Given the description of an element on the screen output the (x, y) to click on. 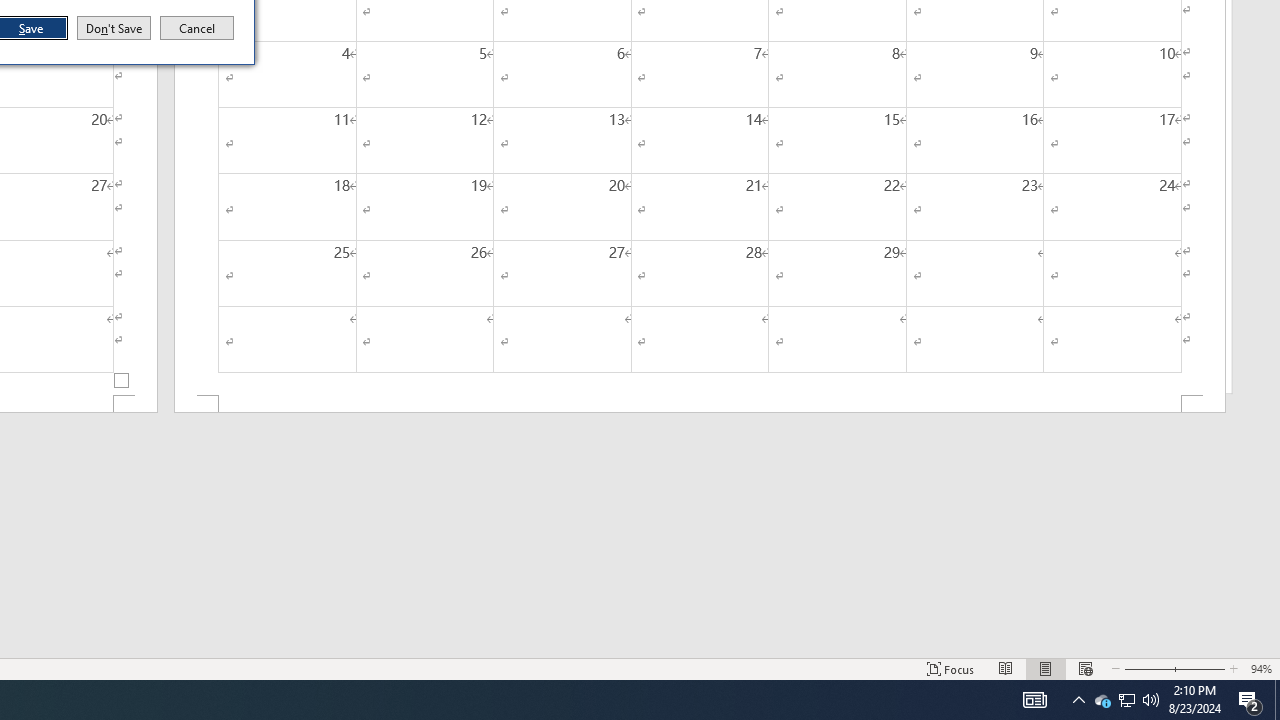
Don't Save (113, 27)
